Given the description of an element on the screen output the (x, y) to click on. 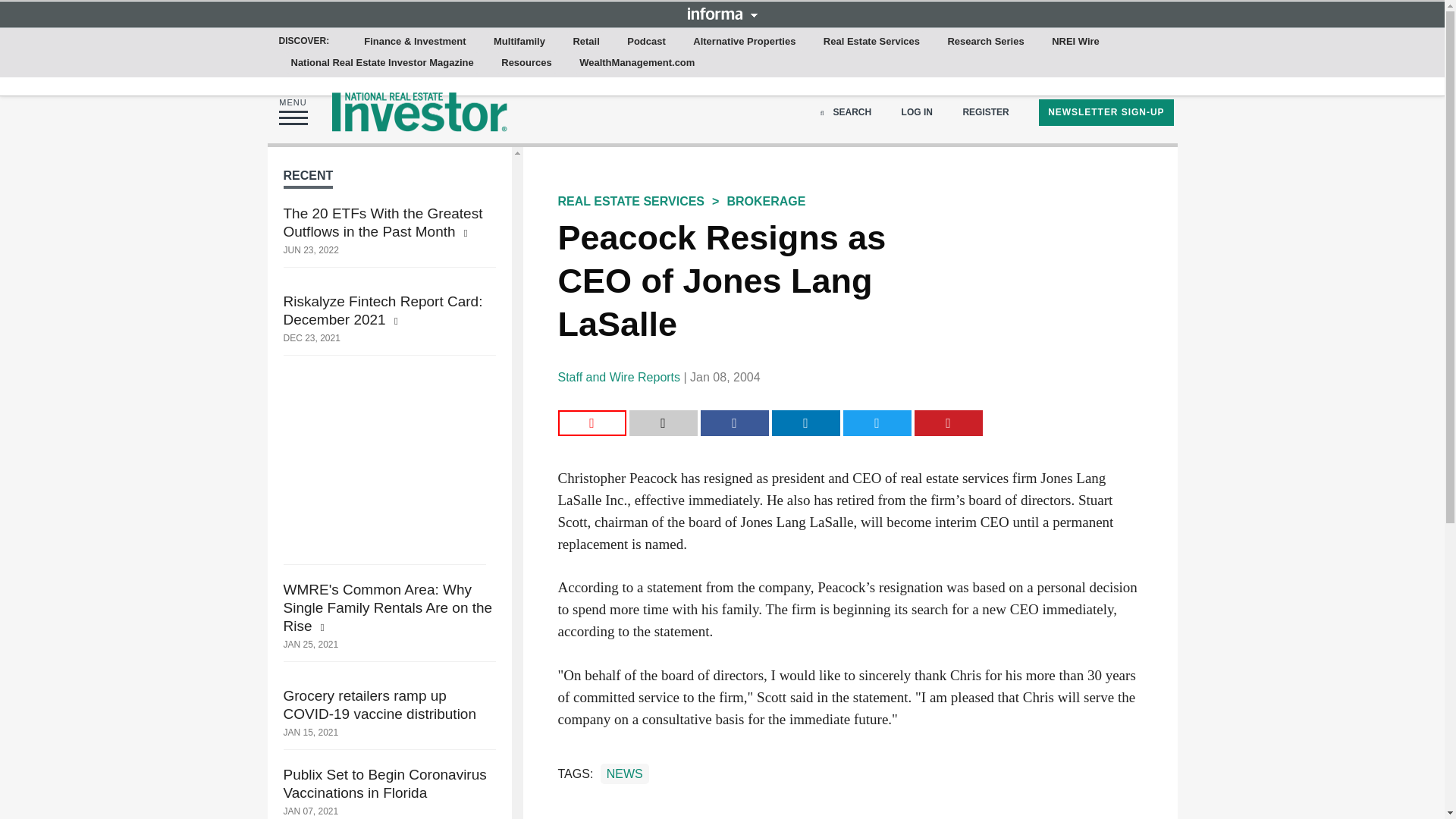
National Real Estate Investor Magazine (382, 62)
Podcast (646, 41)
Multifamily (519, 41)
WealthManagement.com (636, 62)
Research Series (984, 41)
Real Estate Services (871, 41)
Resources (526, 62)
NREI Wire (1075, 41)
INFORMA (722, 13)
Retail (585, 41)
